Given the description of an element on the screen output the (x, y) to click on. 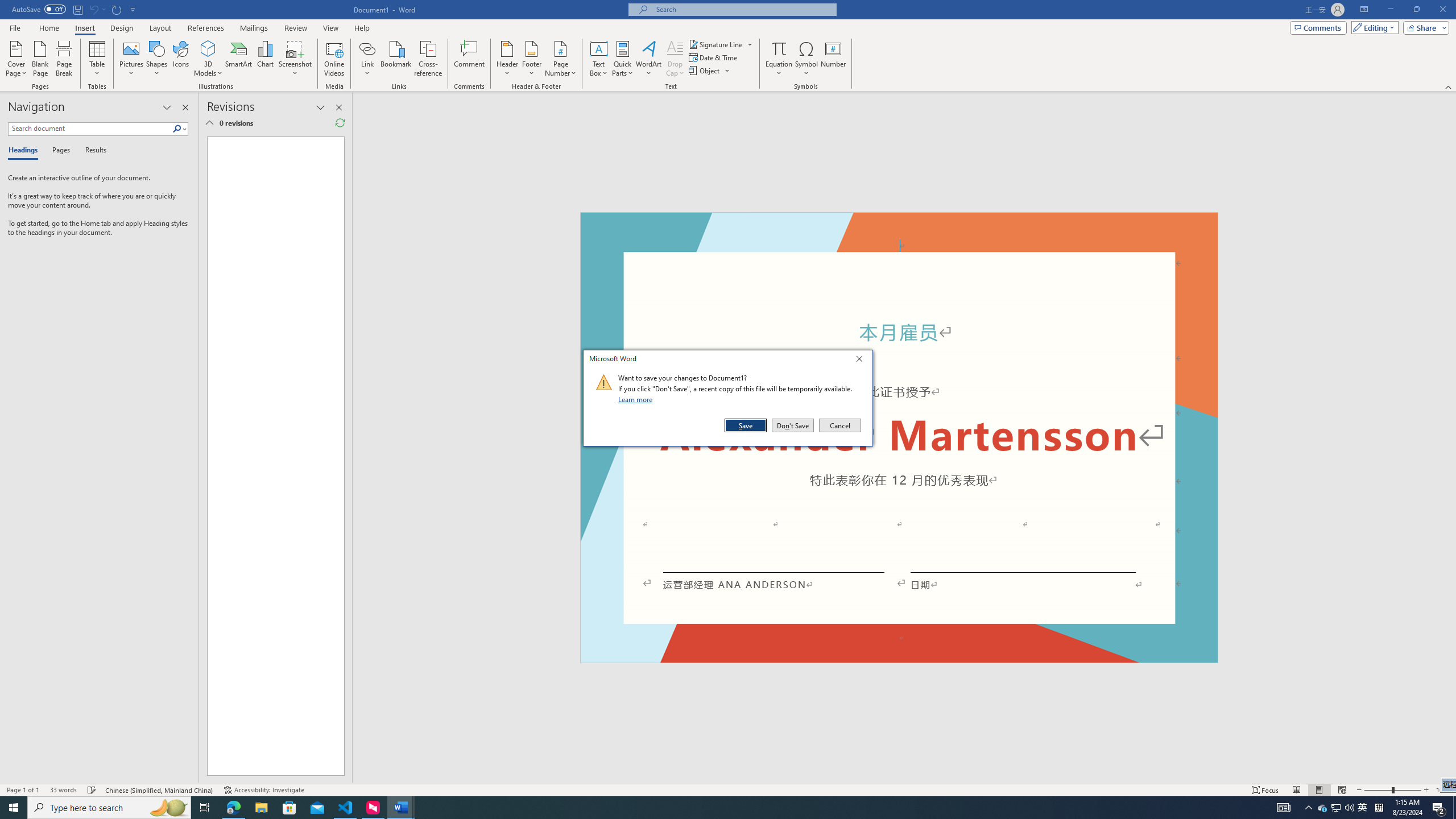
Don't Save (792, 425)
File Explorer (261, 807)
Number... (833, 58)
Drop Cap (674, 58)
Cross-reference... (428, 58)
Online Videos... (333, 58)
Refresh Reviewing Pane (339, 122)
